Given the description of an element on the screen output the (x, y) to click on. 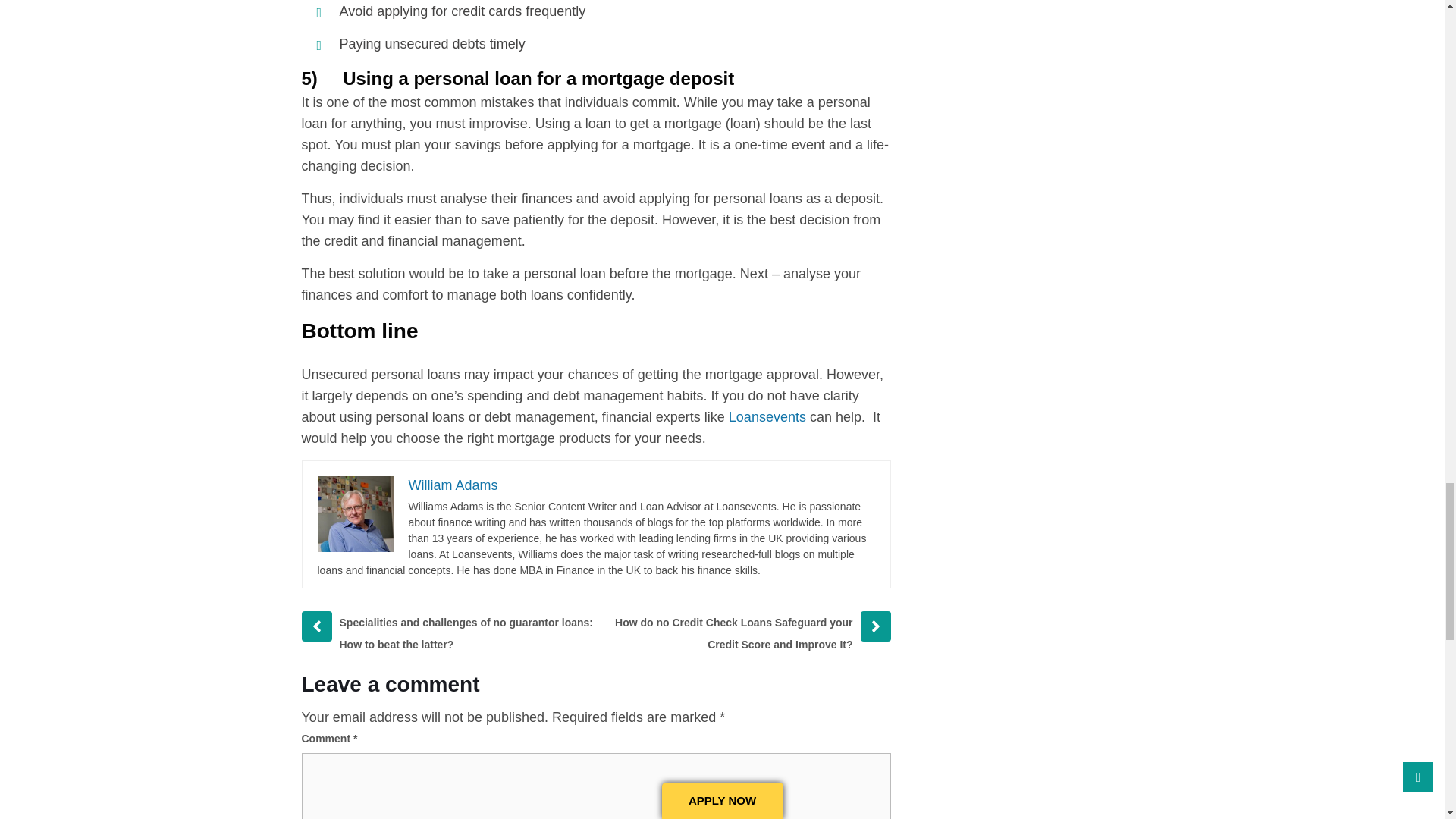
Loansevents (769, 417)
William Adams (452, 485)
